Given the description of an element on the screen output the (x, y) to click on. 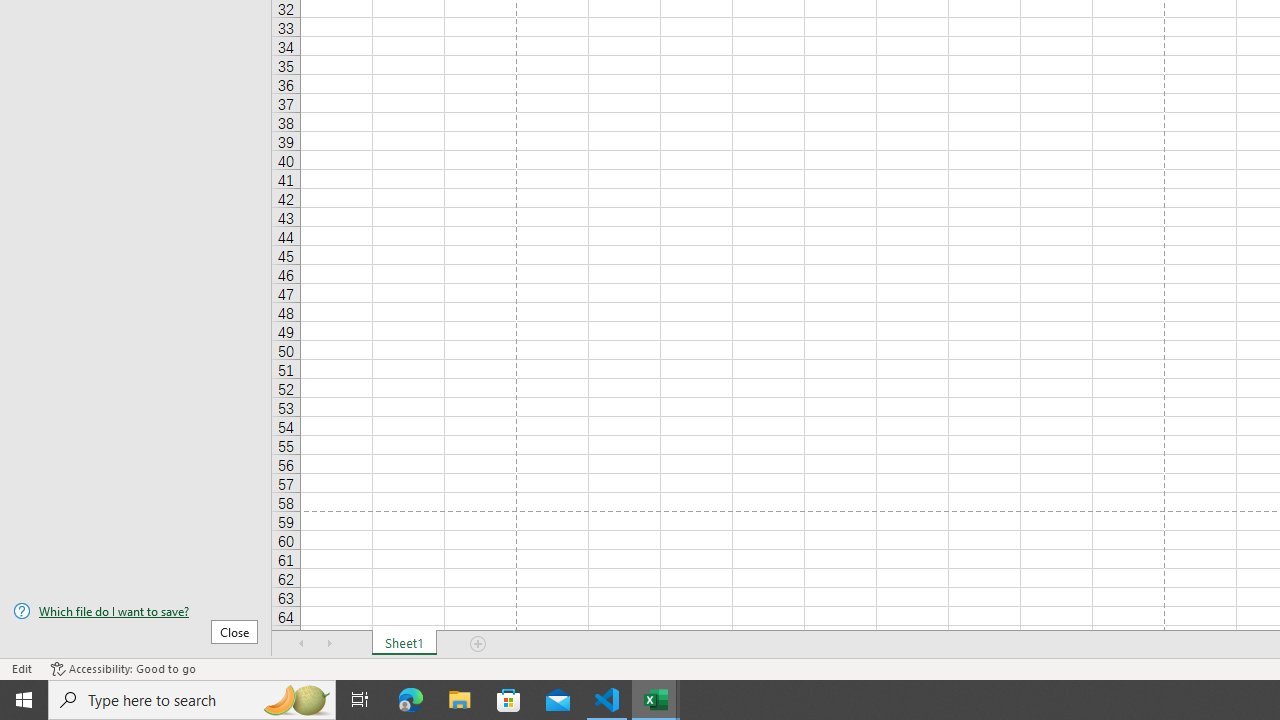
Scroll Right (330, 644)
File Explorer (460, 699)
